Given the description of an element on the screen output the (x, y) to click on. 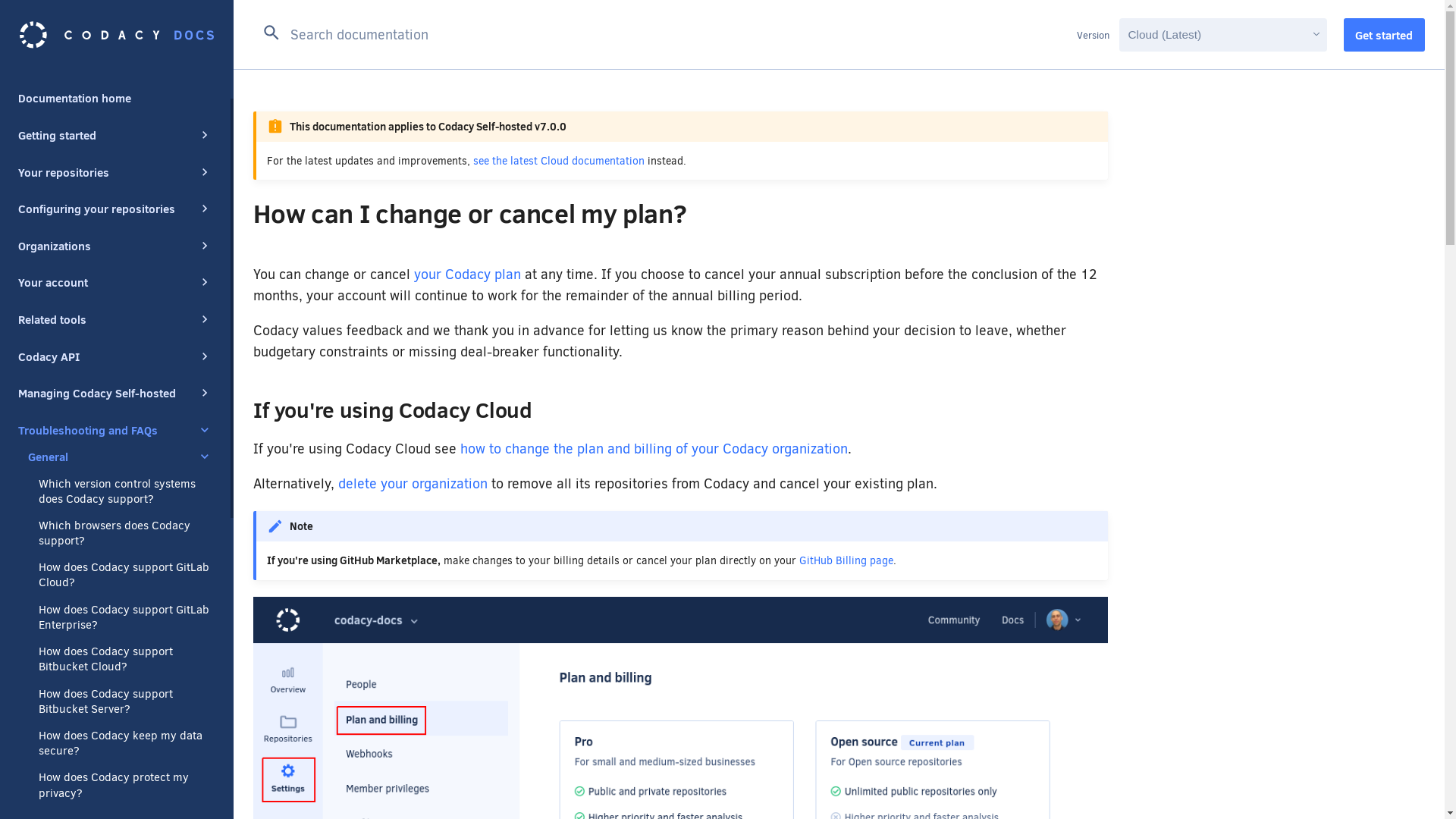
Codacy docs (116, 34)
Get started (1384, 34)
Documentation home (114, 97)
Documentation home (114, 97)
